Given the description of an element on the screen output the (x, y) to click on. 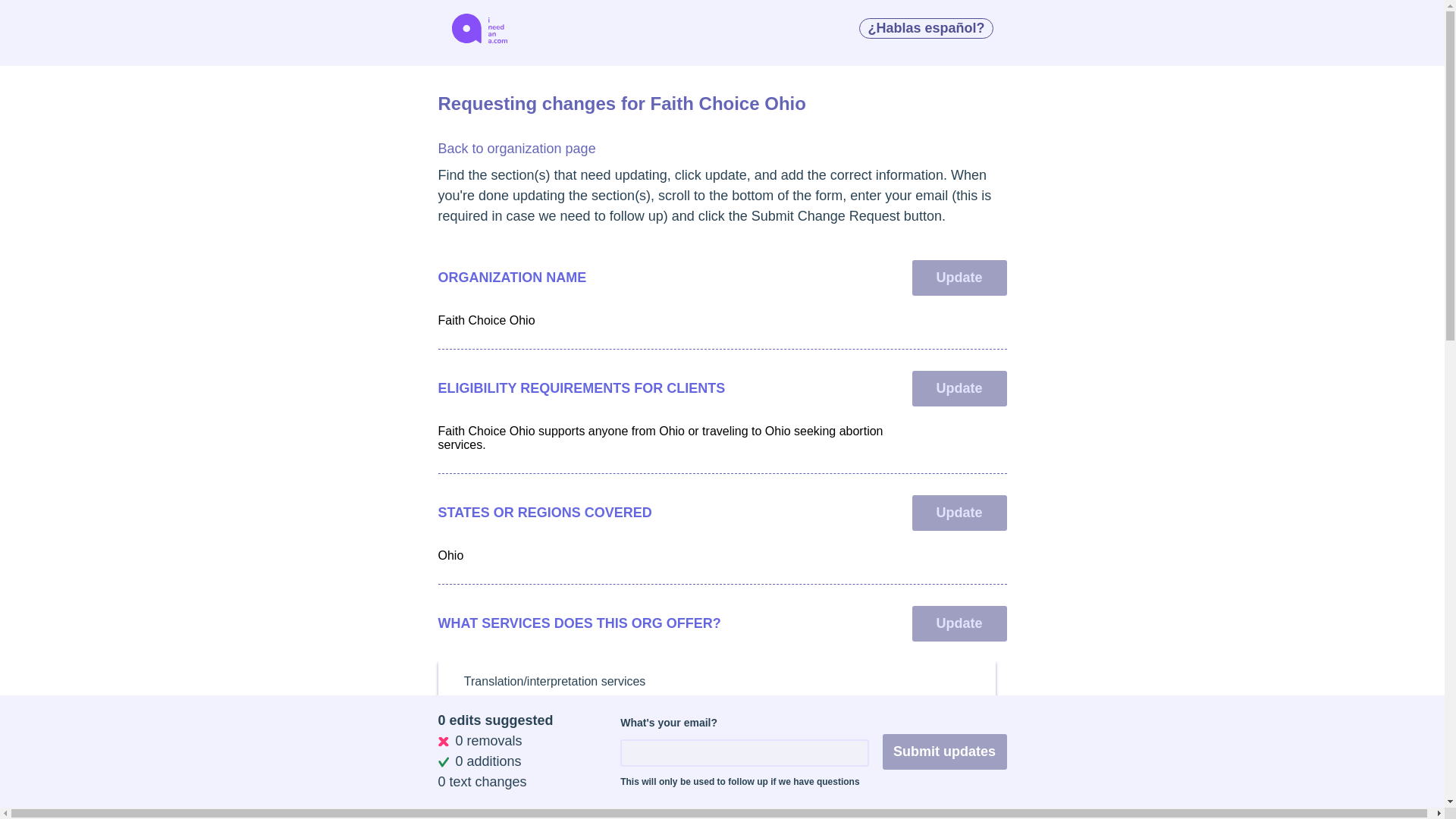
Update (958, 277)
Submit updates (944, 751)
Back to organization page (516, 148)
Update (958, 623)
Update (958, 388)
Update (958, 512)
